Given the description of an element on the screen output the (x, y) to click on. 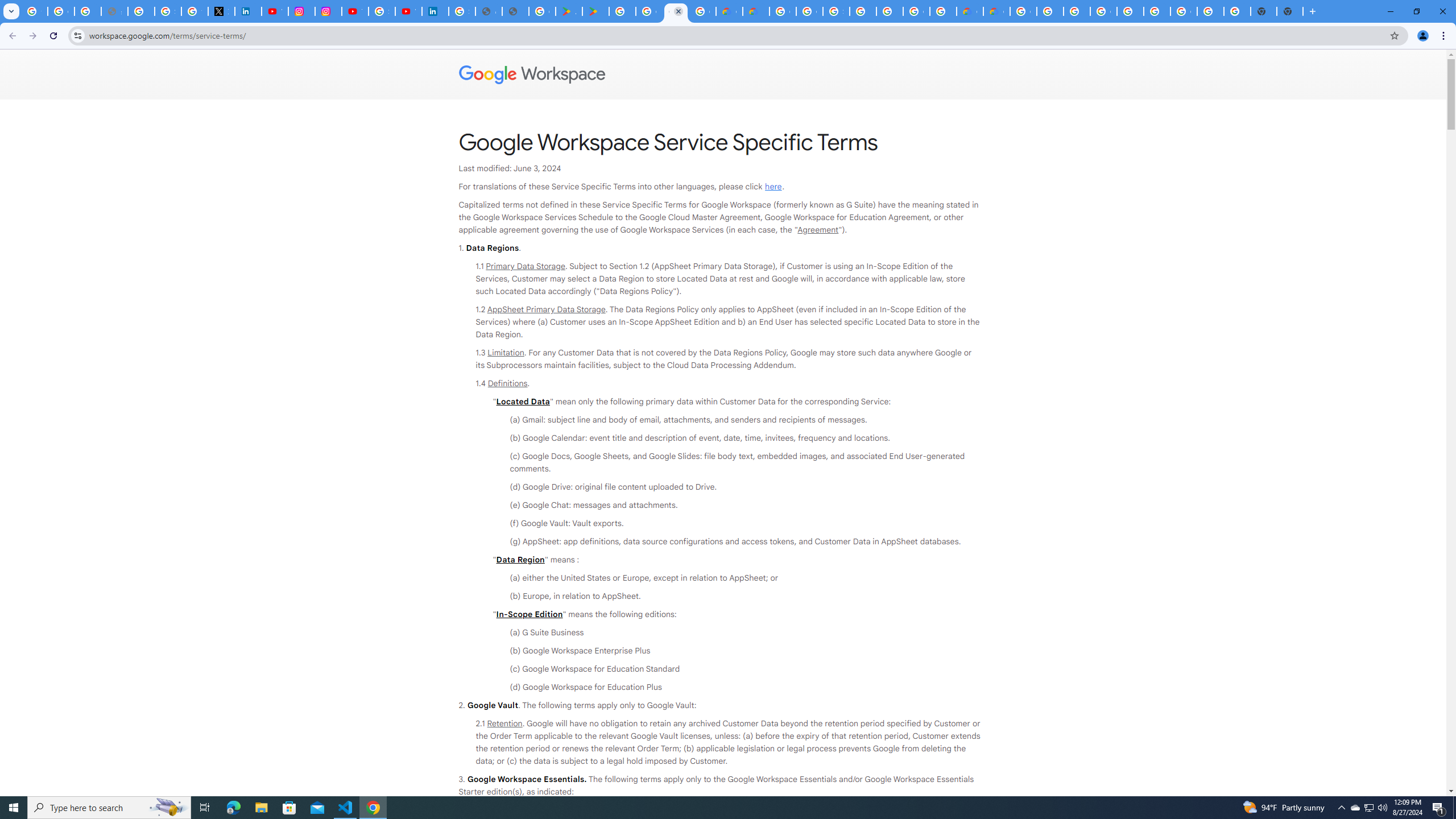
Google Cloud Platform (916, 11)
YouTube Content Monetization Policies - How YouTube Works (275, 11)
support.google.com - Network error (114, 11)
Browse Chrome as a guest - Computer - Google Chrome Help (1076, 11)
Google Workspace - Specific Terms (676, 11)
